Given the description of an element on the screen output the (x, y) to click on. 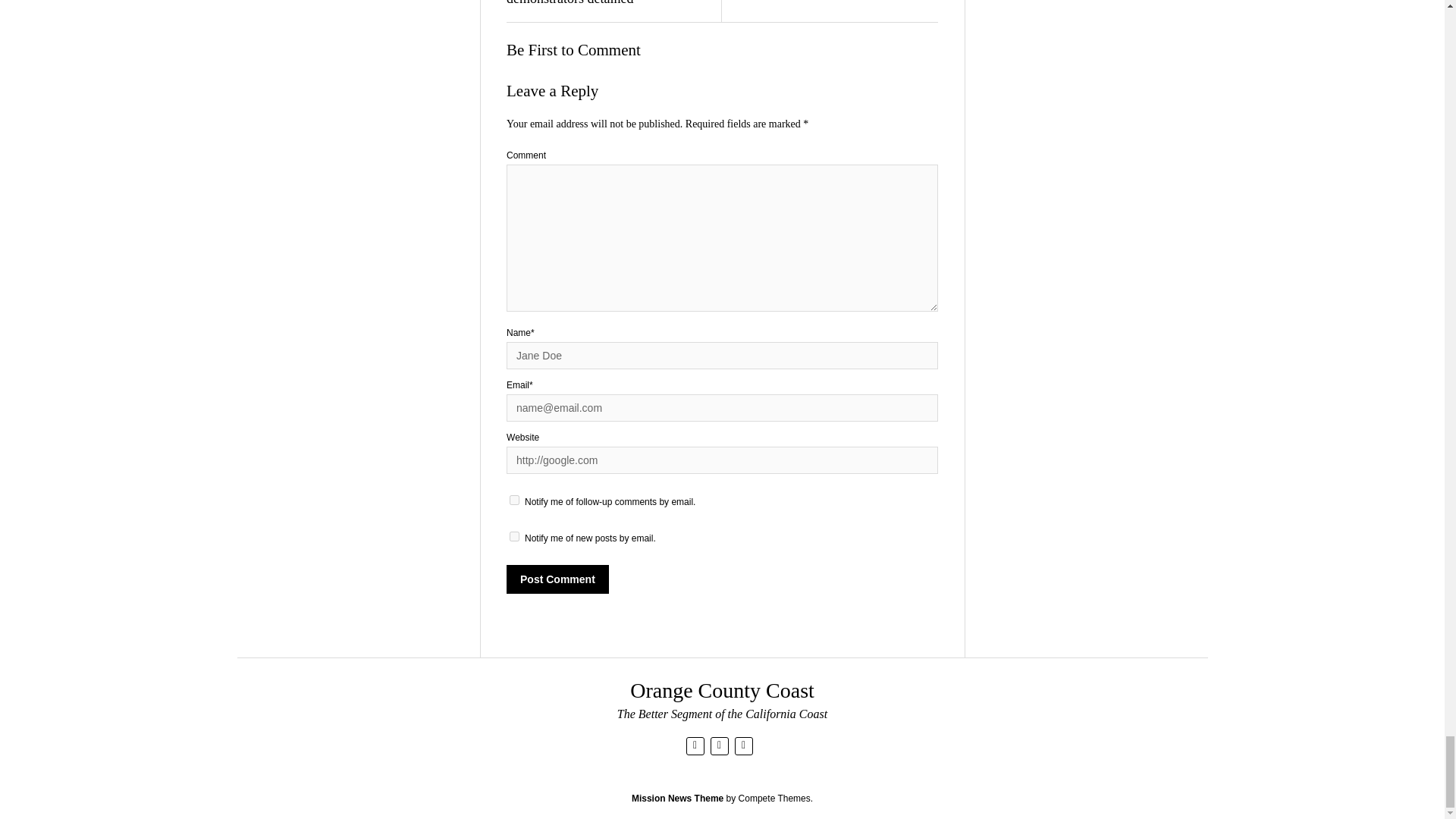
Post Comment (557, 579)
subscribe (514, 500)
subscribe (514, 536)
